Given the description of an element on the screen output the (x, y) to click on. 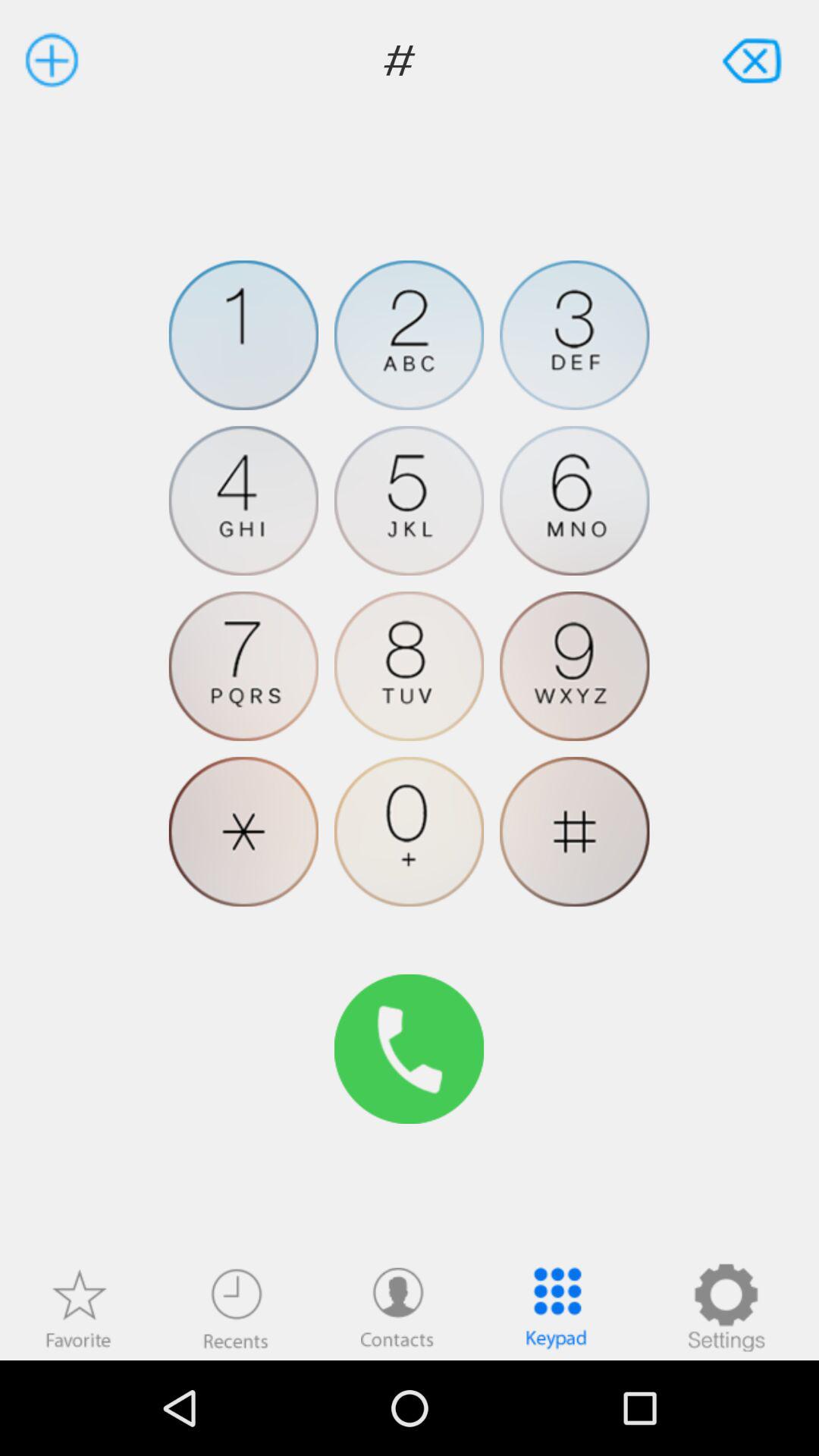
dial 9 (574, 666)
